Given the description of an element on the screen output the (x, y) to click on. 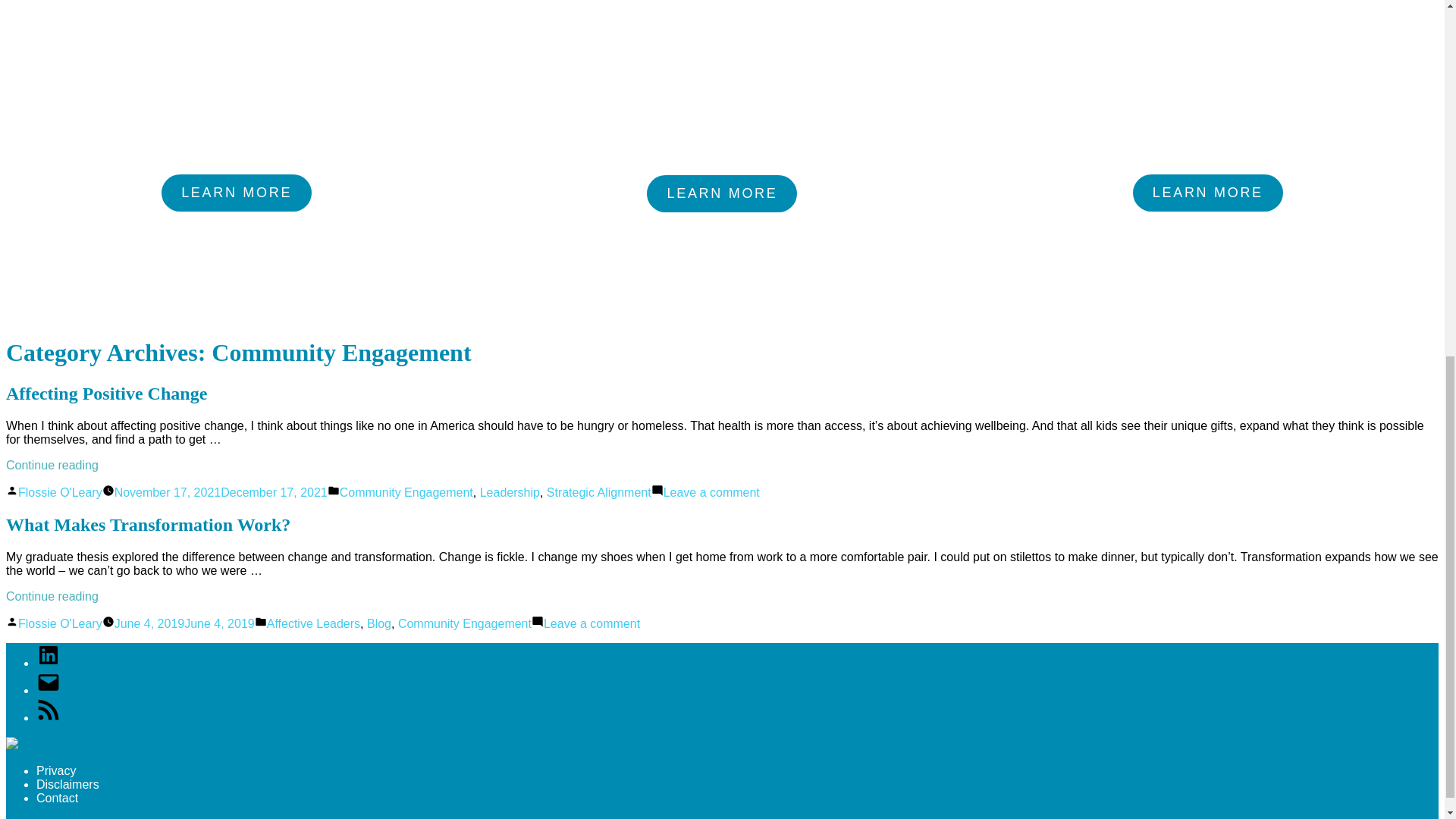
LEARN MORE (721, 193)
Email (48, 689)
Community Engagement (406, 492)
LEARN MORE (1207, 192)
LinkedIn (591, 623)
Disclaimers (48, 662)
Contact (67, 784)
Feed (57, 797)
Affecting Positive Change (48, 717)
June 4, 2019June 4, 2019 (105, 393)
Flossie O'Leary (184, 623)
Strategic Alignment (59, 623)
Privacy (598, 492)
November 17, 2021December 17, 2021 (55, 770)
